Given the description of an element on the screen output the (x, y) to click on. 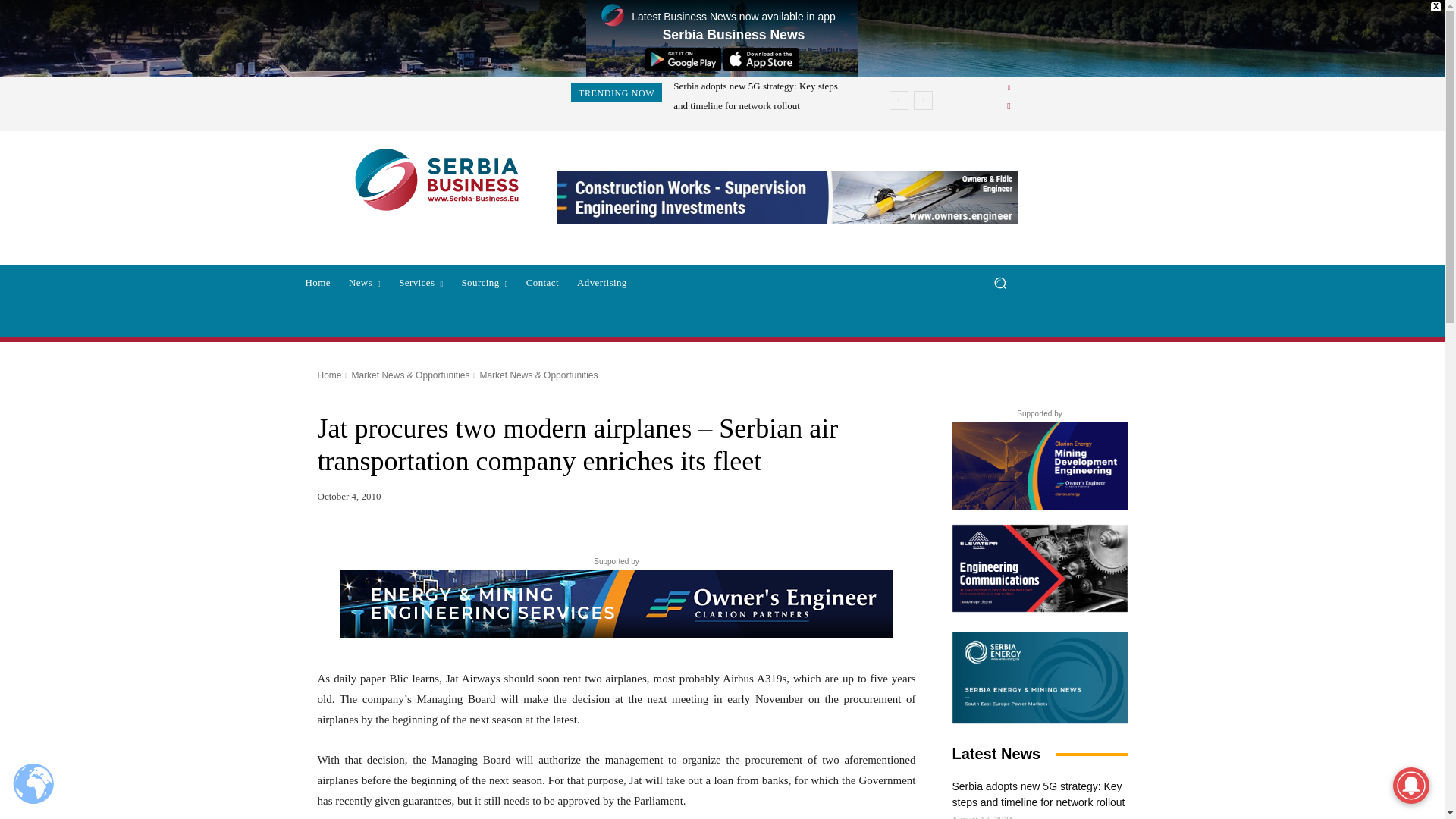
Contact (541, 282)
Advertising (601, 282)
Home (317, 282)
Twitter (1007, 106)
News (364, 282)
Linkedin (1007, 87)
Services (420, 282)
Sourcing (483, 282)
